Given the description of an element on the screen output the (x, y) to click on. 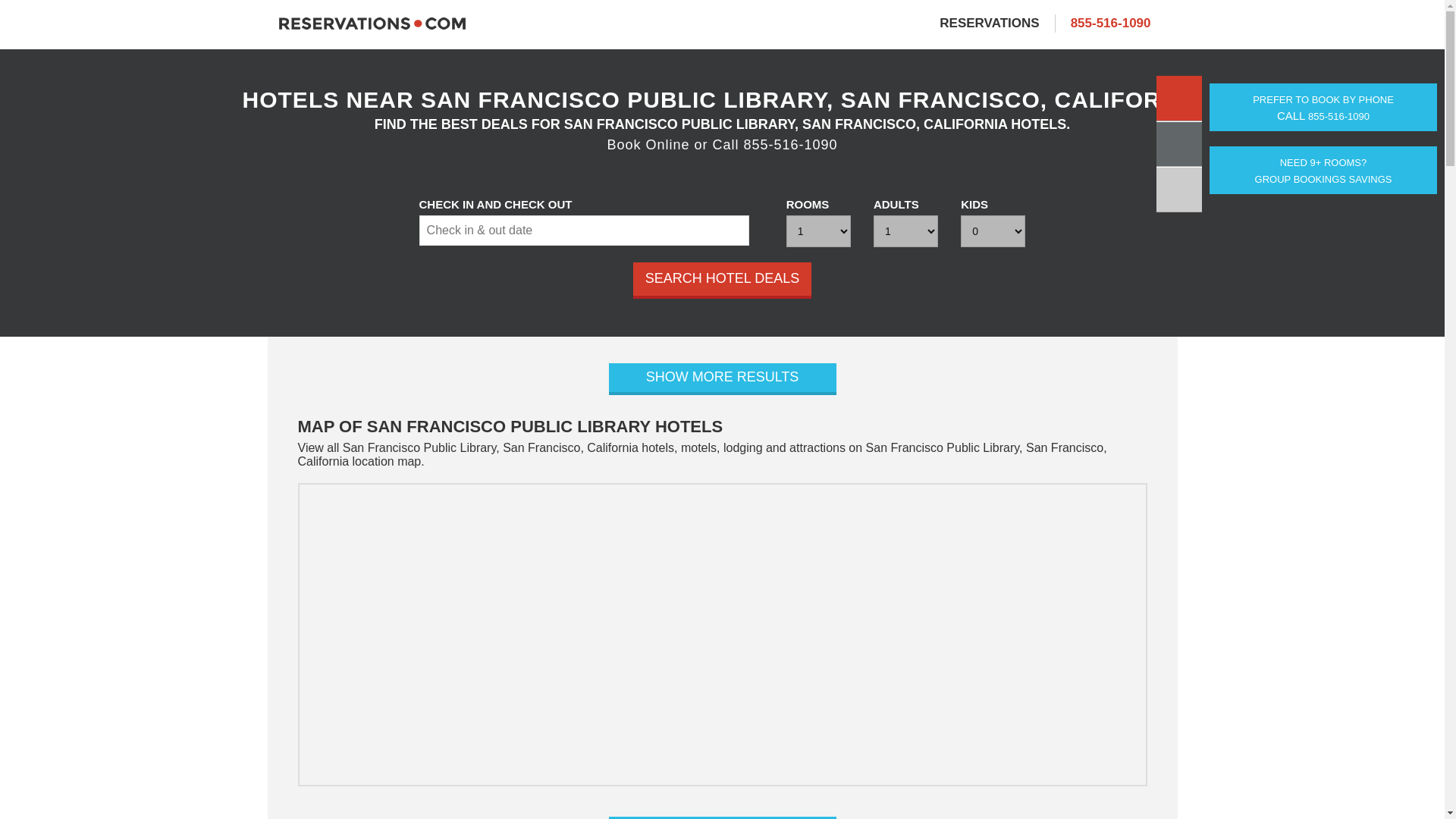
855-516-1090 (1110, 22)
SHOW MORE RESULTS (721, 280)
855-516-1090 (721, 378)
